Given the description of an element on the screen output the (x, y) to click on. 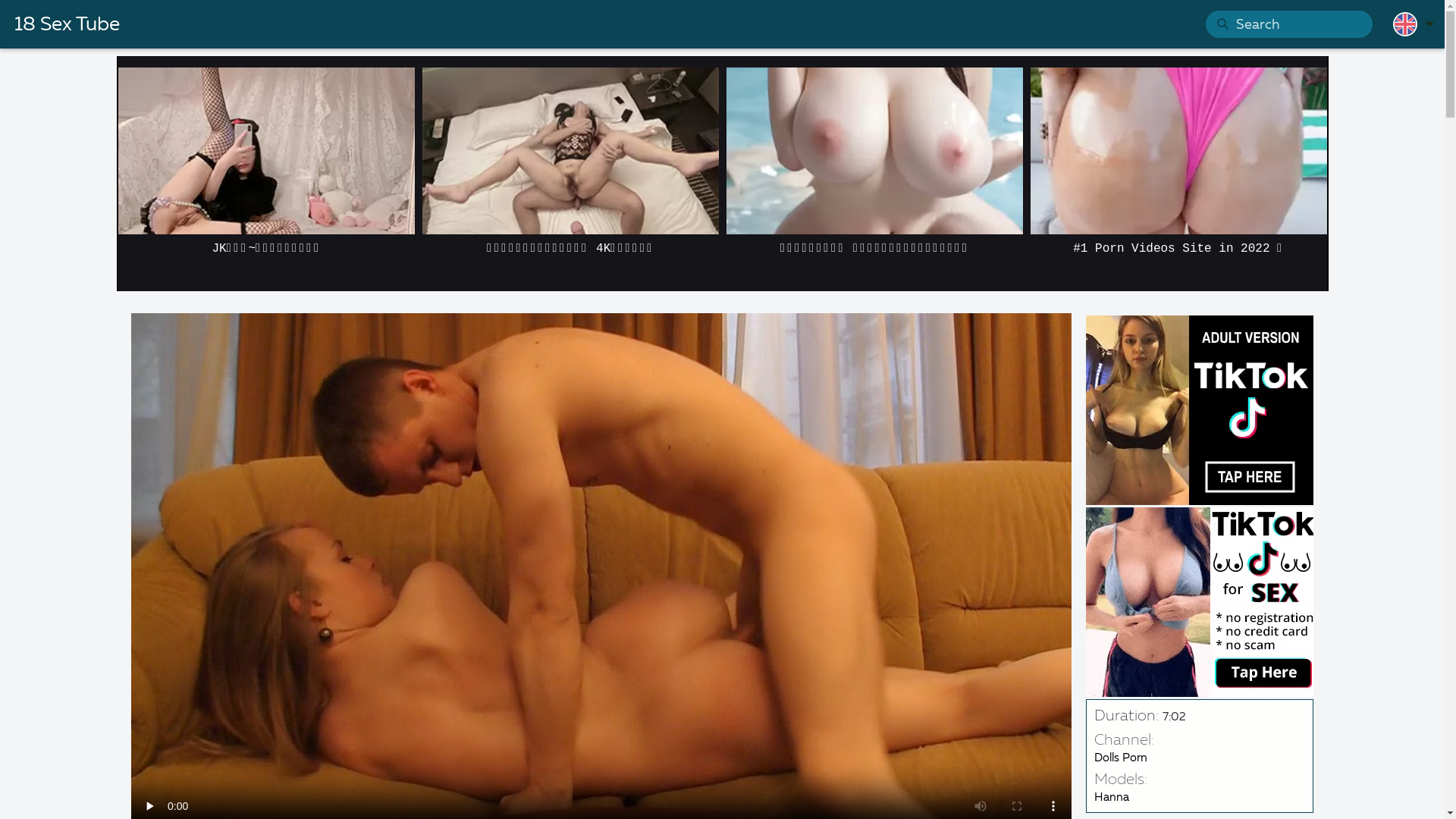
Dolls Porn Element type: text (1120, 757)
Hanna Element type: text (1111, 797)
18 Sex Tube Element type: text (66, 24)
